Given the description of an element on the screen output the (x, y) to click on. 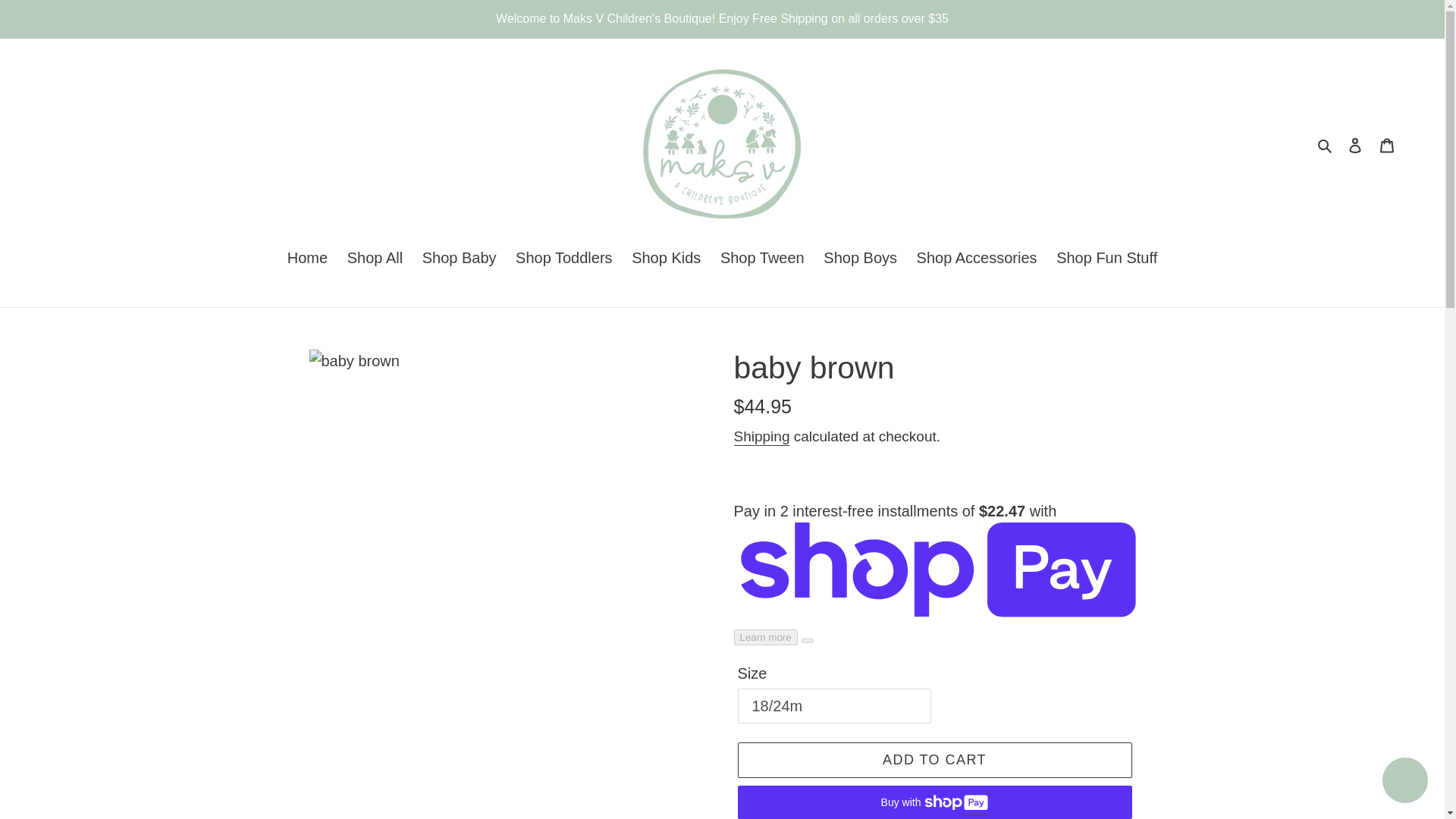
Shop Tween (762, 258)
Shipping (761, 436)
Shop Kids (665, 258)
Shop All (374, 258)
Shop Boys (859, 258)
Shop Toddlers (564, 258)
Home (306, 258)
Search (1326, 143)
Shop Baby (458, 258)
ADD TO CART (933, 760)
